Given the description of an element on the screen output the (x, y) to click on. 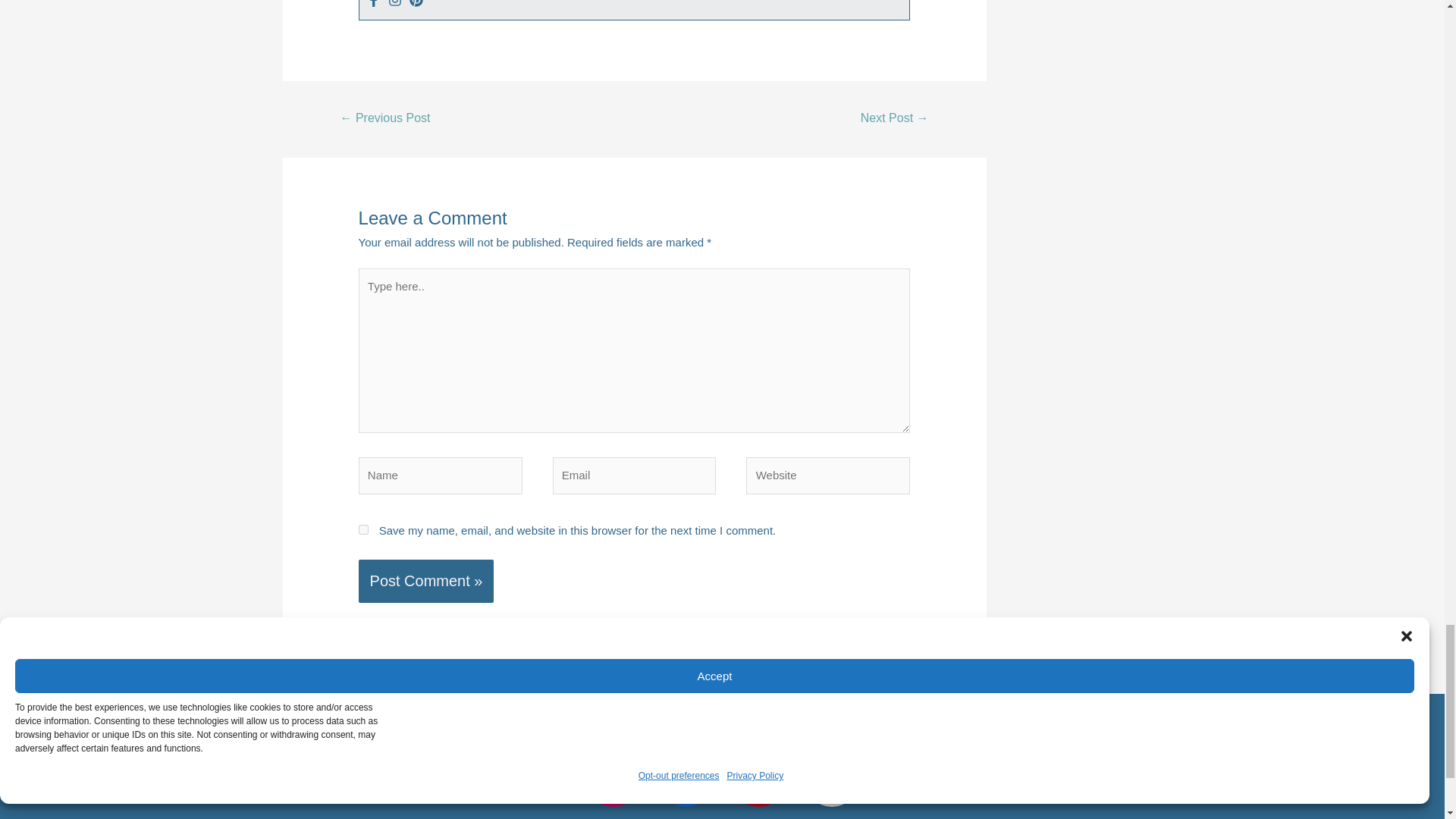
Phosphorus for Kids (895, 119)
Pinterest (416, 3)
Sensory Play for Picky Eating (384, 119)
Instagram (394, 3)
yes (363, 529)
Facebook (373, 3)
